Given the description of an element on the screen output the (x, y) to click on. 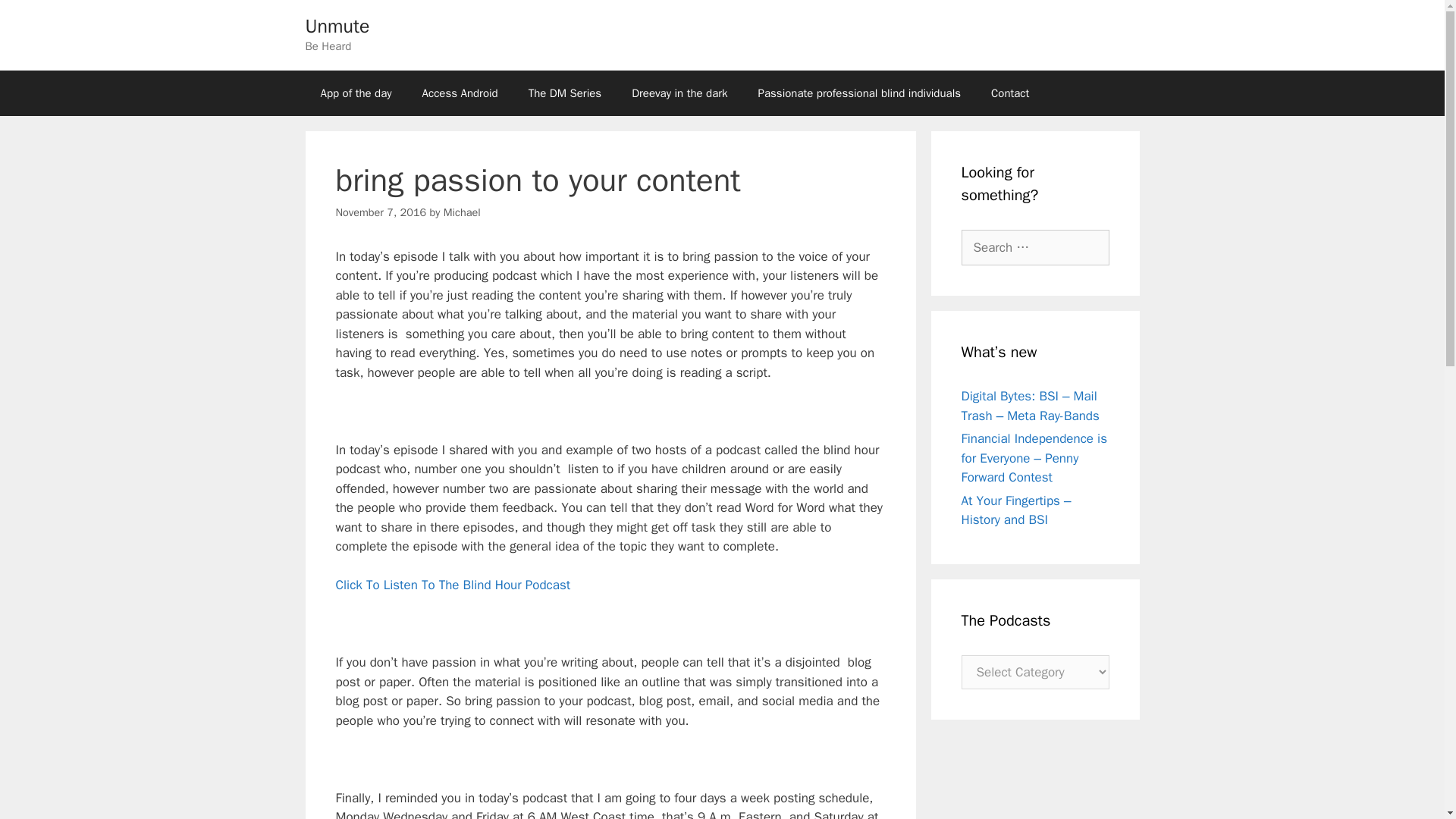
Search (35, 18)
Access Android (460, 92)
App of the day (355, 92)
Click To Listen To The Blind Hour Podcast (452, 584)
Dreevay in the dark (678, 92)
Unmute (336, 25)
The DM Series (564, 92)
Passionate professional blind individuals (858, 92)
Michael (462, 212)
Contact (1009, 92)
View all posts by Michael (462, 212)
Search for: (1034, 247)
